Given the description of an element on the screen output the (x, y) to click on. 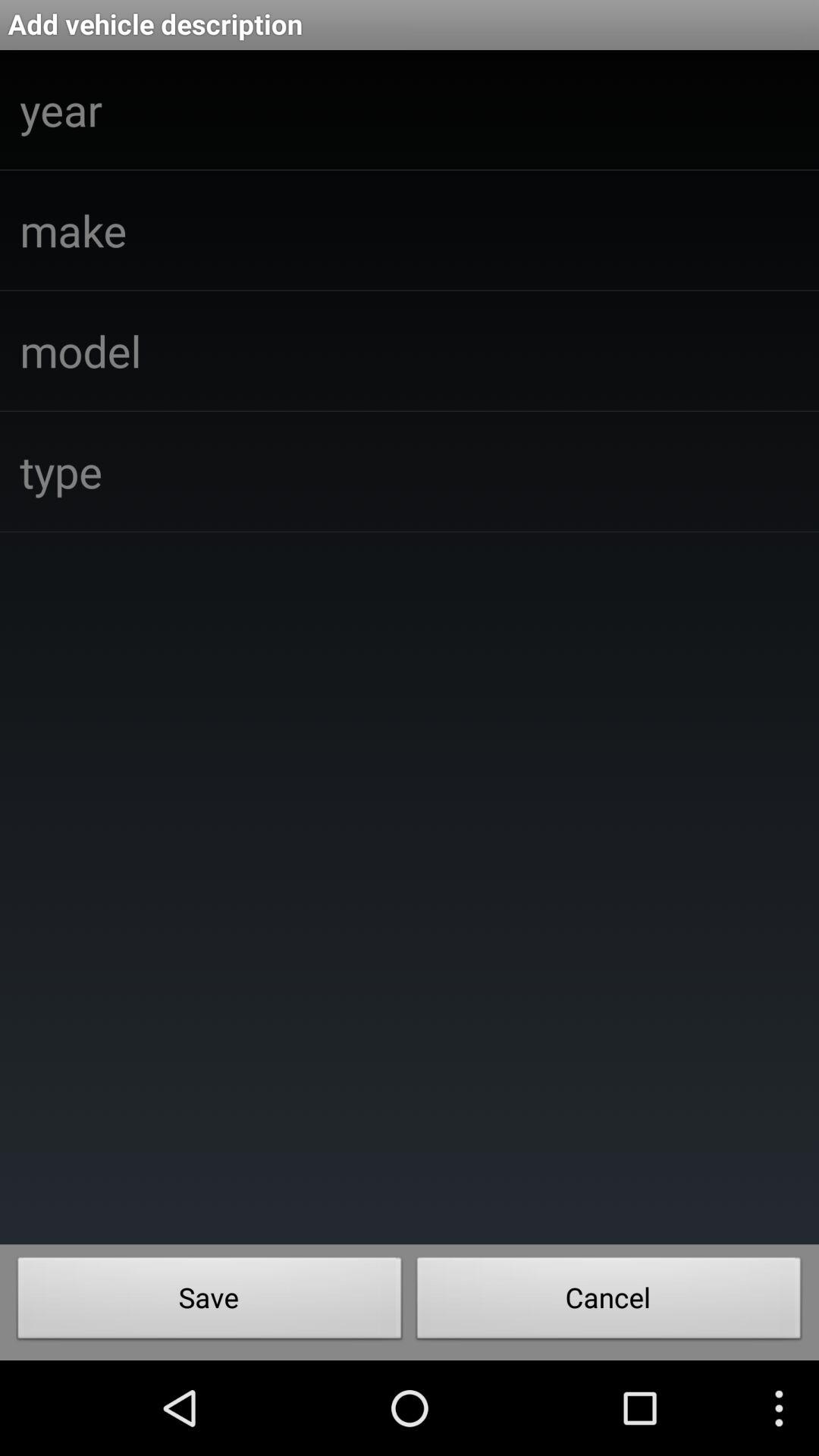
swipe to the cancel (608, 1302)
